Given the description of an element on the screen output the (x, y) to click on. 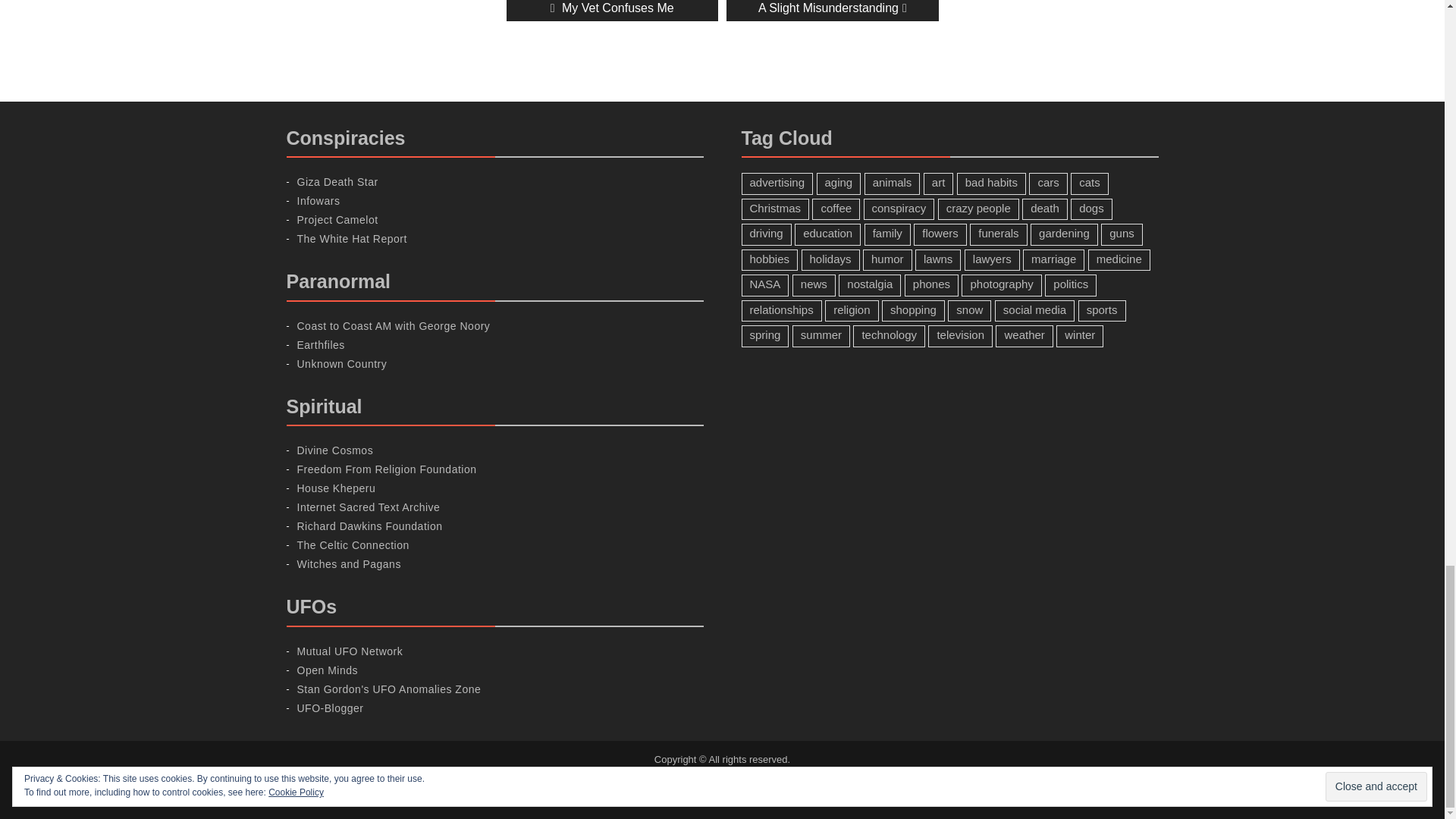
The companion site to the radio show. (393, 326)
Getting the truth out one whistleblower at a time. (337, 219)
Reporting What The Main Stream Media Refuses To Report (352, 238)
